Given the description of an element on the screen output the (x, y) to click on. 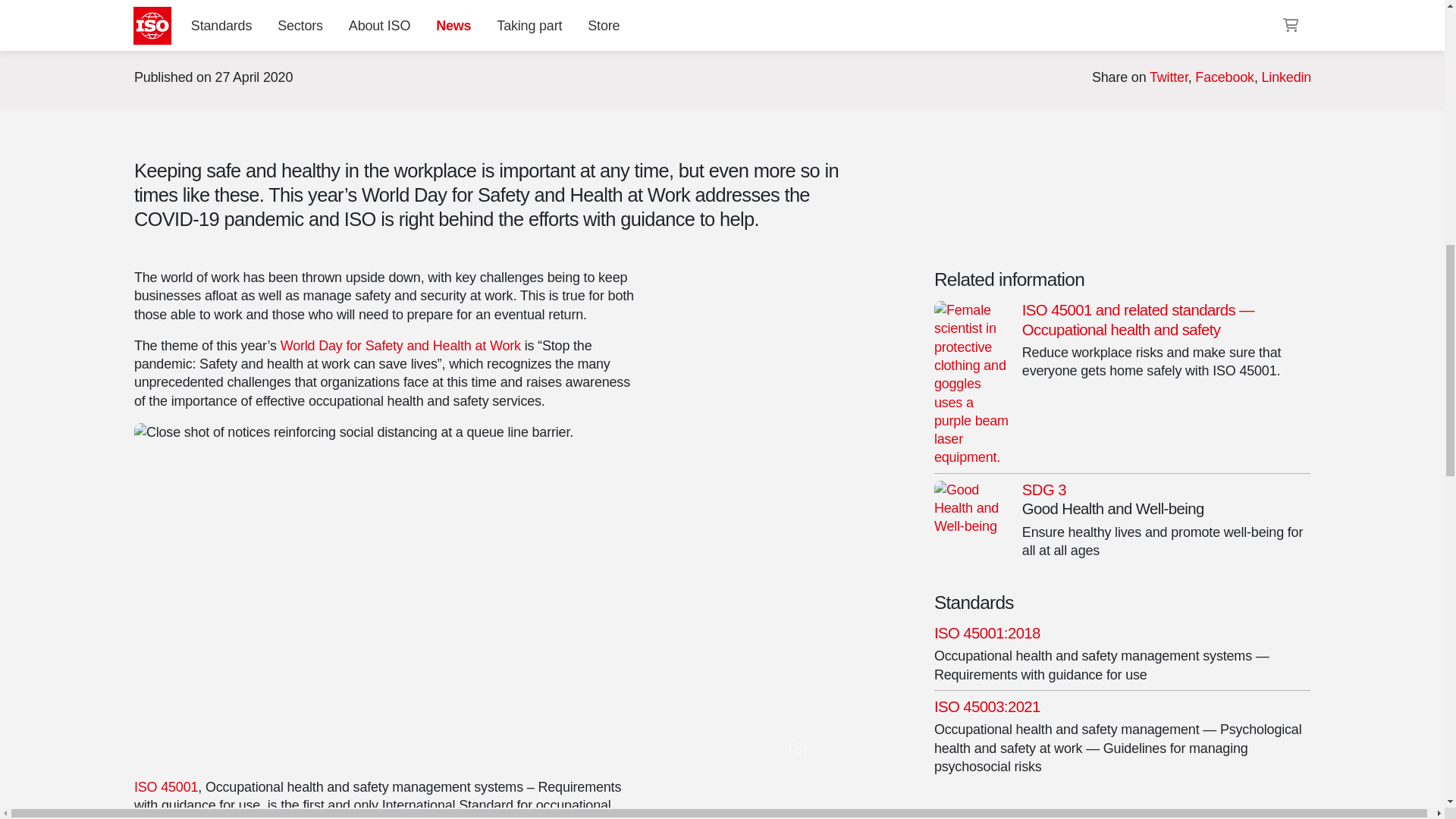
Medical (975, 30)
World Day for Safety and Health at Work (399, 345)
Twitter (1168, 77)
ISO 45001 (1274, 30)
Safety (1104, 30)
Facebook (1224, 77)
Safety (1104, 30)
COVID-19 (1042, 30)
Linkedin (1285, 77)
ISO 45000 family (1183, 30)
ISO 45000 family (1183, 30)
COVID-19 (1042, 30)
Medical (975, 30)
ISO 45001 (1274, 30)
